Given the description of an element on the screen output the (x, y) to click on. 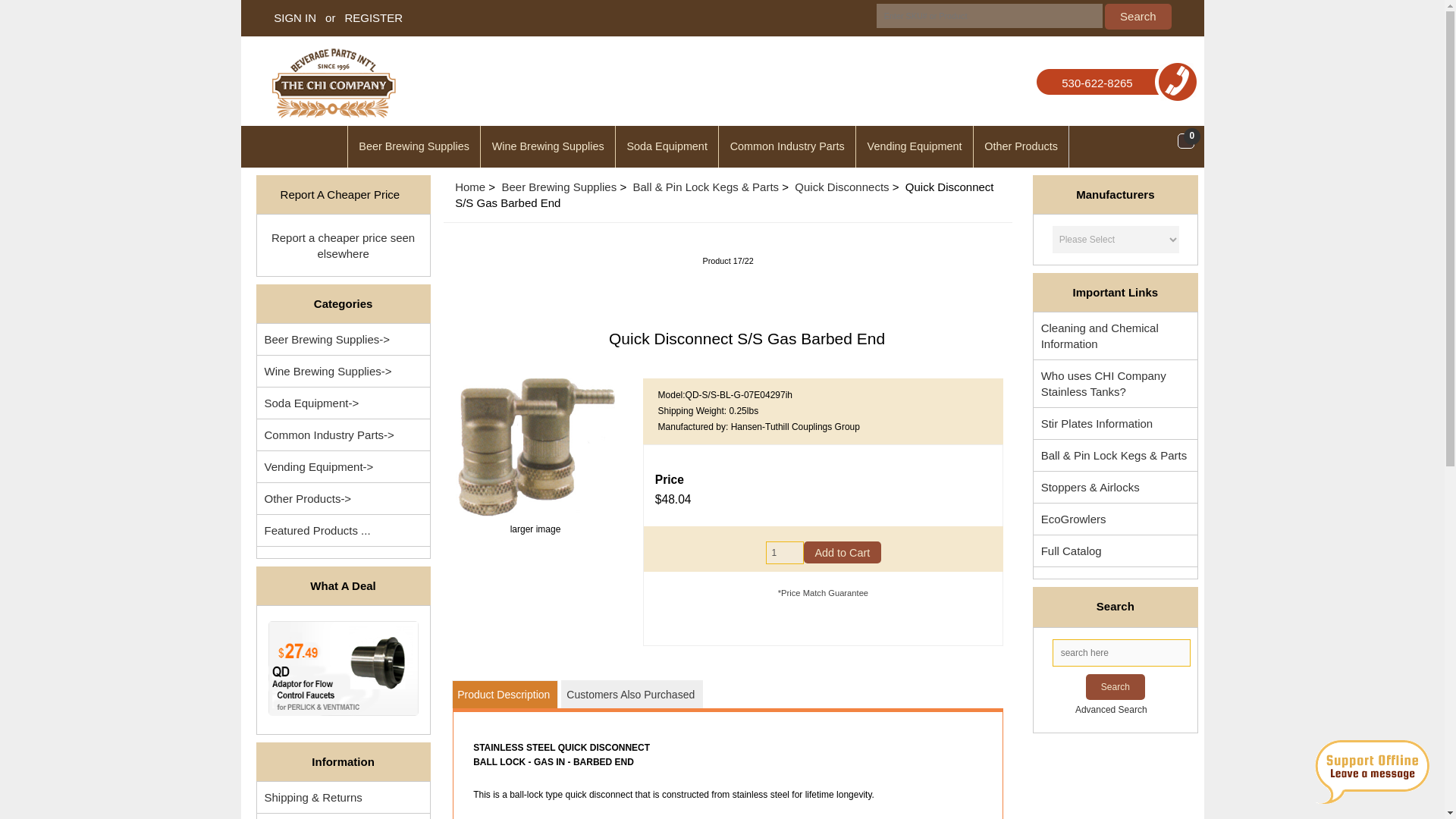
 Next  (857, 288)
 Return to the Product List  (739, 288)
Soda Equipment (666, 147)
Search (1138, 16)
 The Chi Company  (333, 83)
Signup For Free (373, 16)
REGISTER (373, 16)
Search (1138, 16)
0 (1185, 140)
Report a cheaper price seen elsewhere (343, 245)
Wine Brewing Supplies (547, 147)
1 (784, 552)
Vending Equipment (914, 147)
Live chat offline (1371, 771)
Beer Brewing Supplies (413, 147)
